Given the description of an element on the screen output the (x, y) to click on. 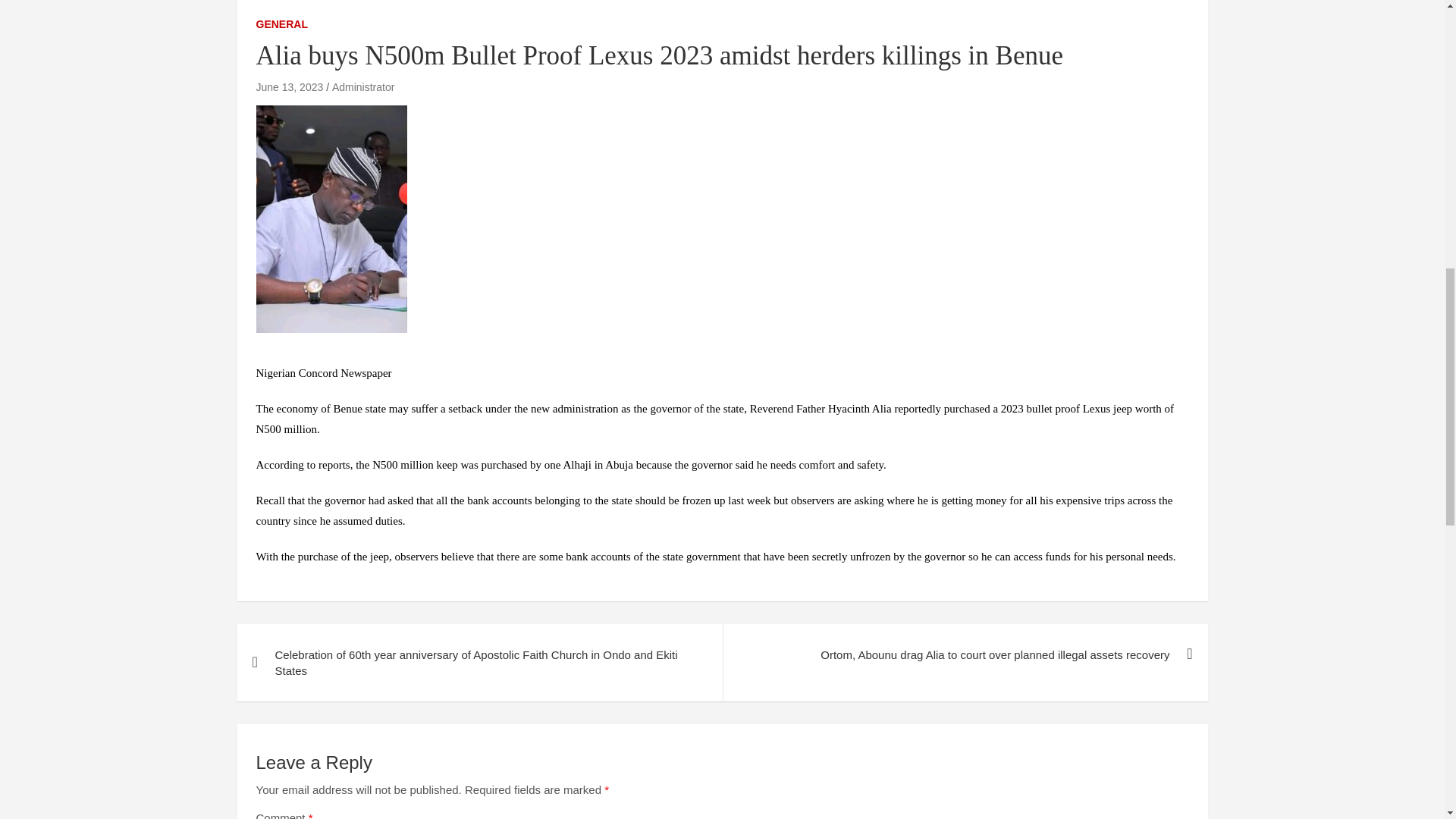
June 13, 2023 (289, 87)
Administrator (362, 87)
GENERAL (281, 24)
